Given the description of an element on the screen output the (x, y) to click on. 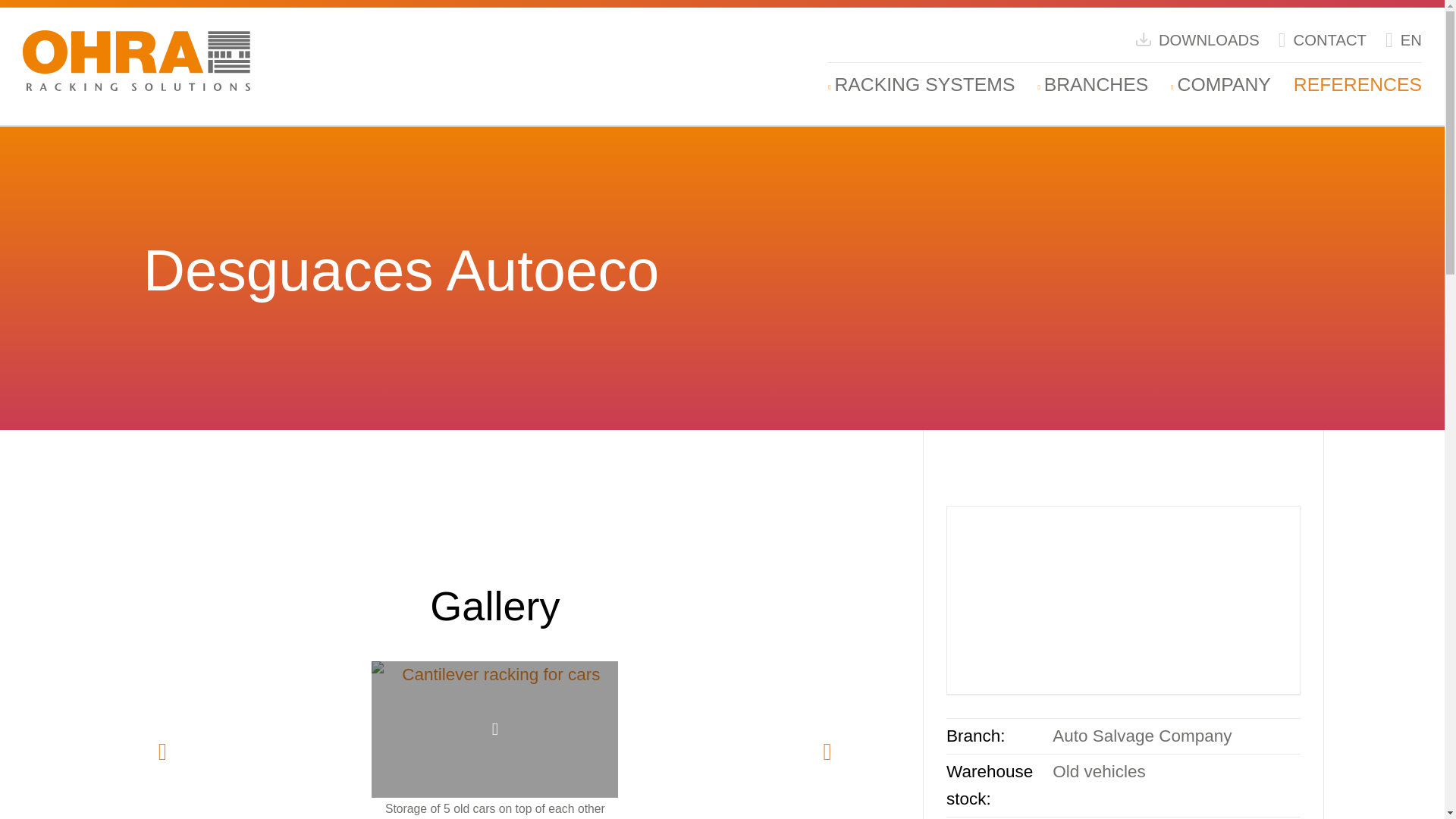
DOWNLOADS (1196, 40)
RACKING SYSTEMS (924, 84)
CONTACT (1322, 40)
EN (1404, 40)
